Given the description of an element on the screen output the (x, y) to click on. 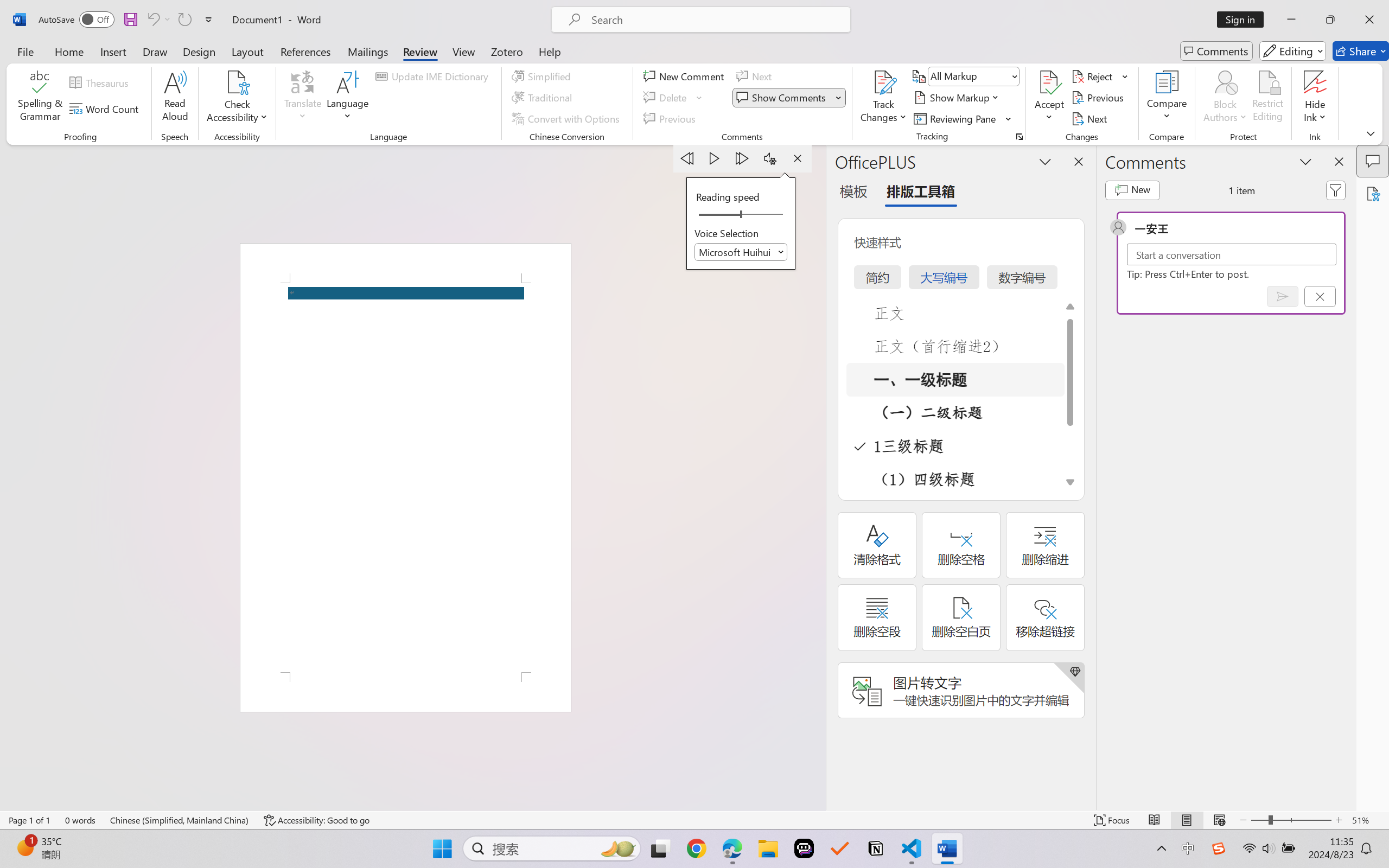
Read Aloud (174, 97)
Undo Apply Quick Style Set (152, 19)
